Given the description of an element on the screen output the (x, y) to click on. 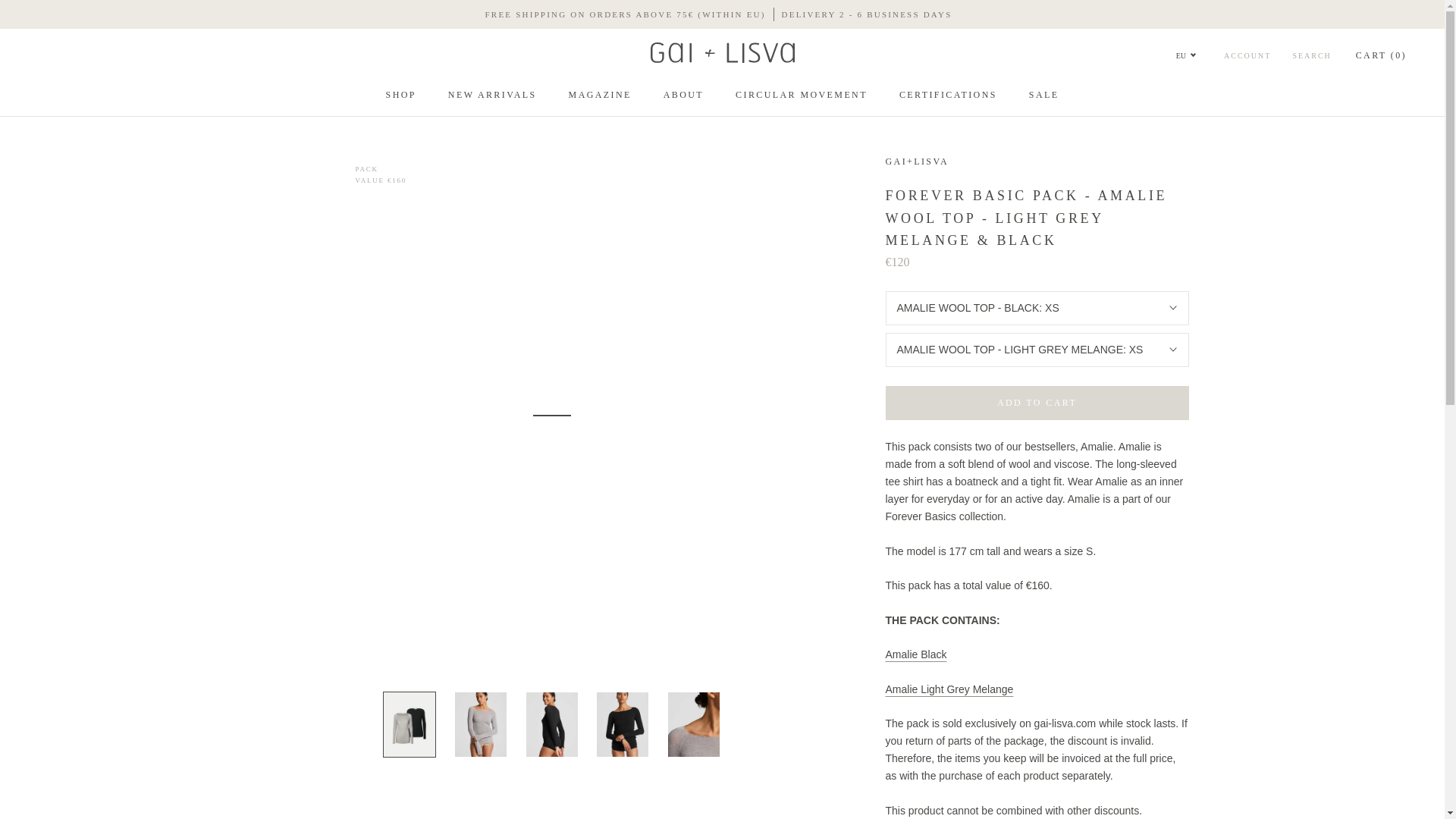
Amalie light grey melange (949, 688)
Amalie black (916, 654)
